Given the description of an element on the screen output the (x, y) to click on. 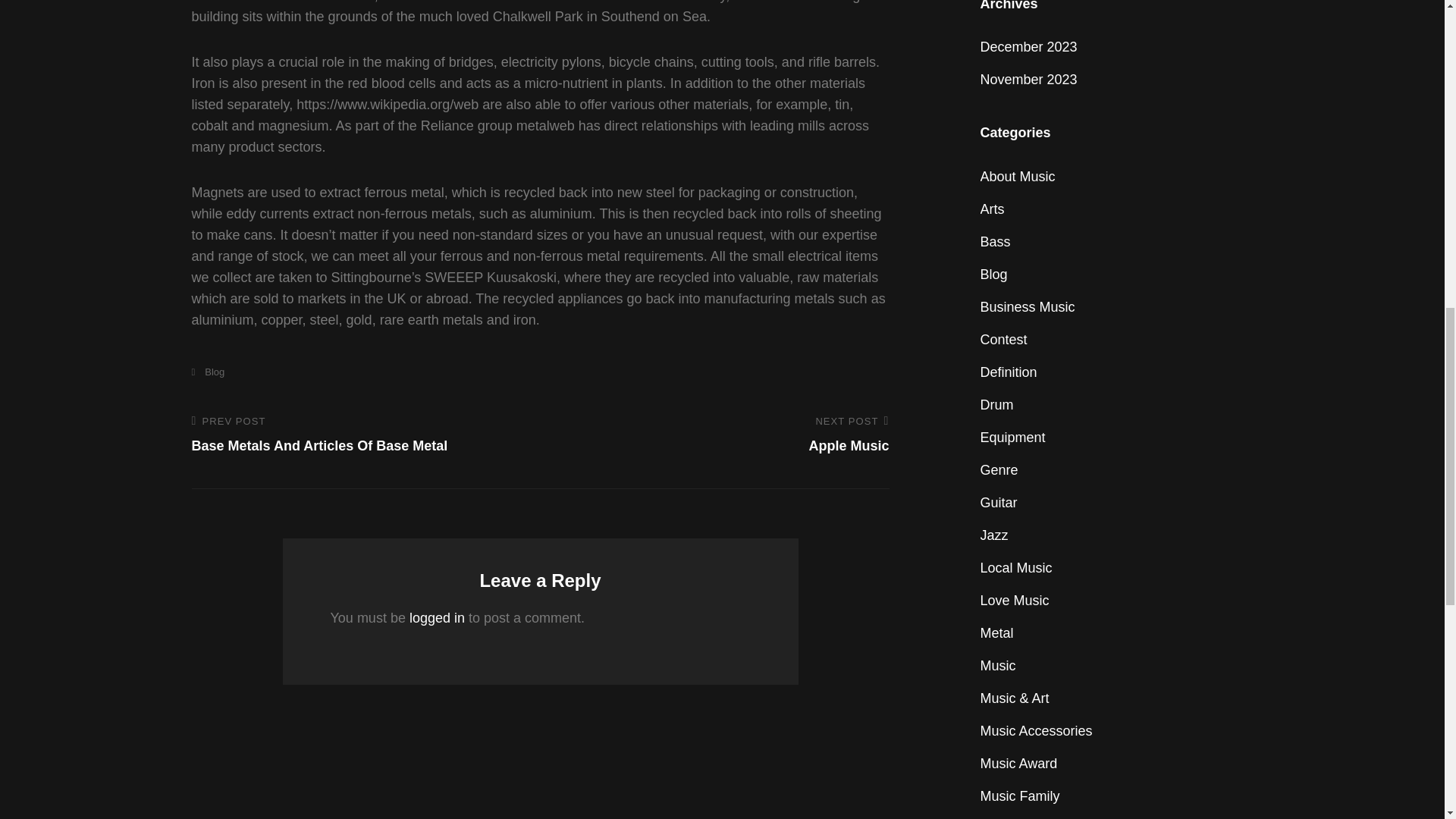
Blog (207, 371)
